Given the description of an element on the screen output the (x, y) to click on. 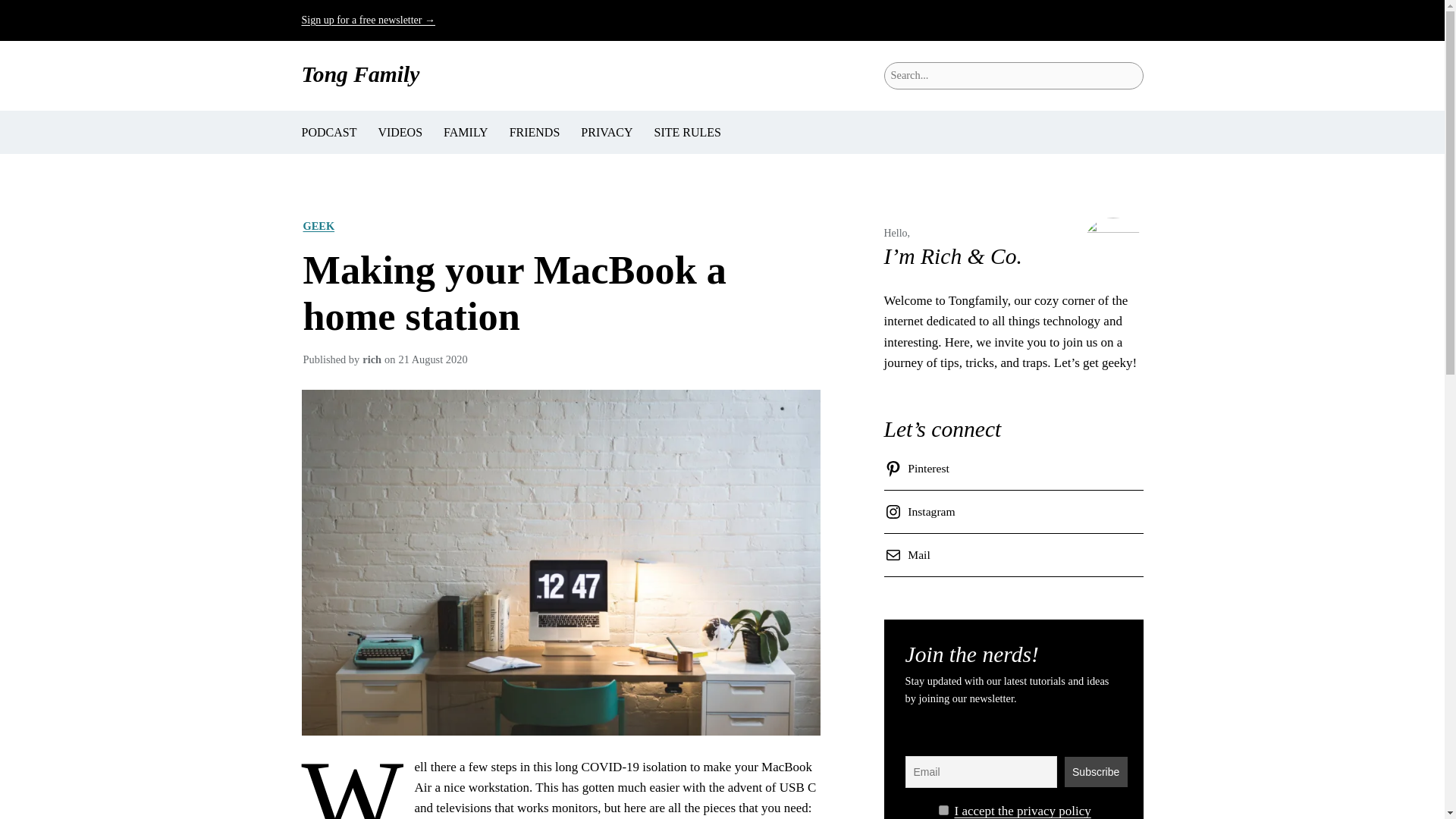
on (944, 809)
Subscribe (1095, 771)
21 August 2020 (432, 358)
SITE RULES (686, 132)
VIDEOS (399, 132)
Mail (909, 555)
Making your MacBook a home station (560, 293)
FRIENDS (534, 132)
FAMILY (465, 132)
GEEK (318, 225)
